Given the description of an element on the screen output the (x, y) to click on. 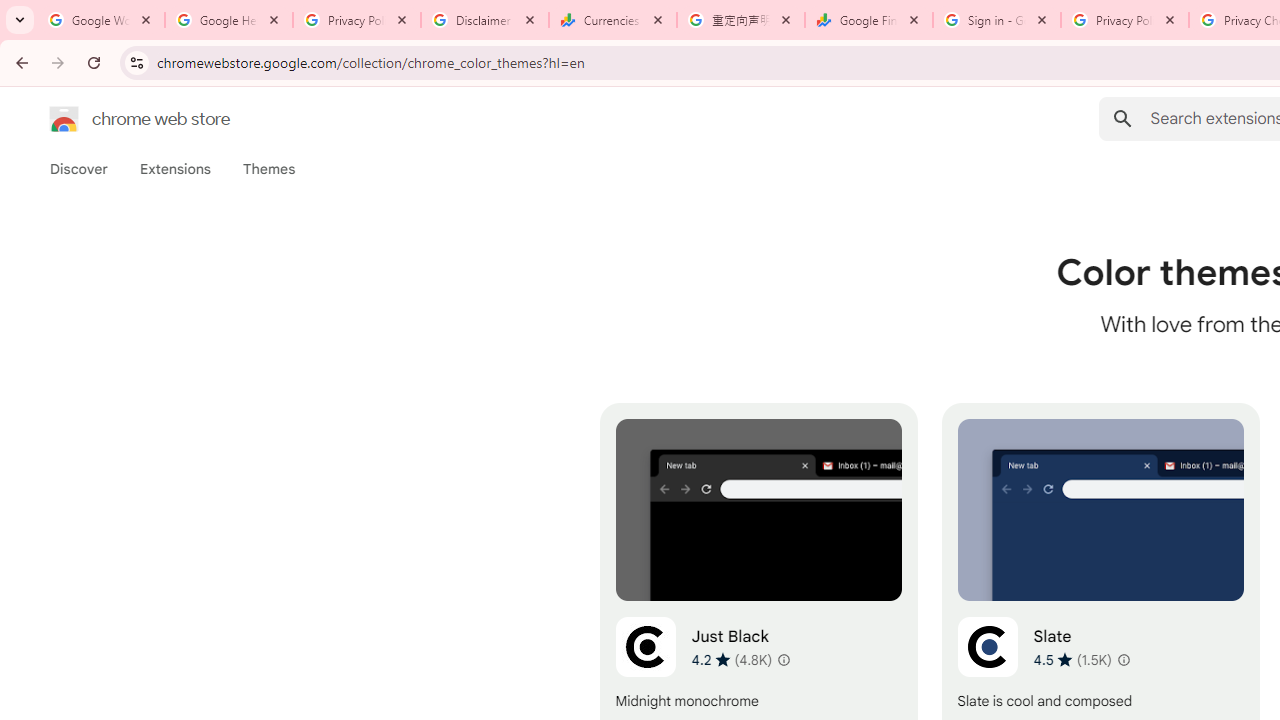
Average rating 4.2 out of 5 stars. 4.8K ratings. (732, 659)
Chrome Web Store logo (63, 118)
Chrome Web Store logo chrome web store (118, 118)
Learn more about results and reviews "Slate" (1122, 659)
